Given the description of an element on the screen output the (x, y) to click on. 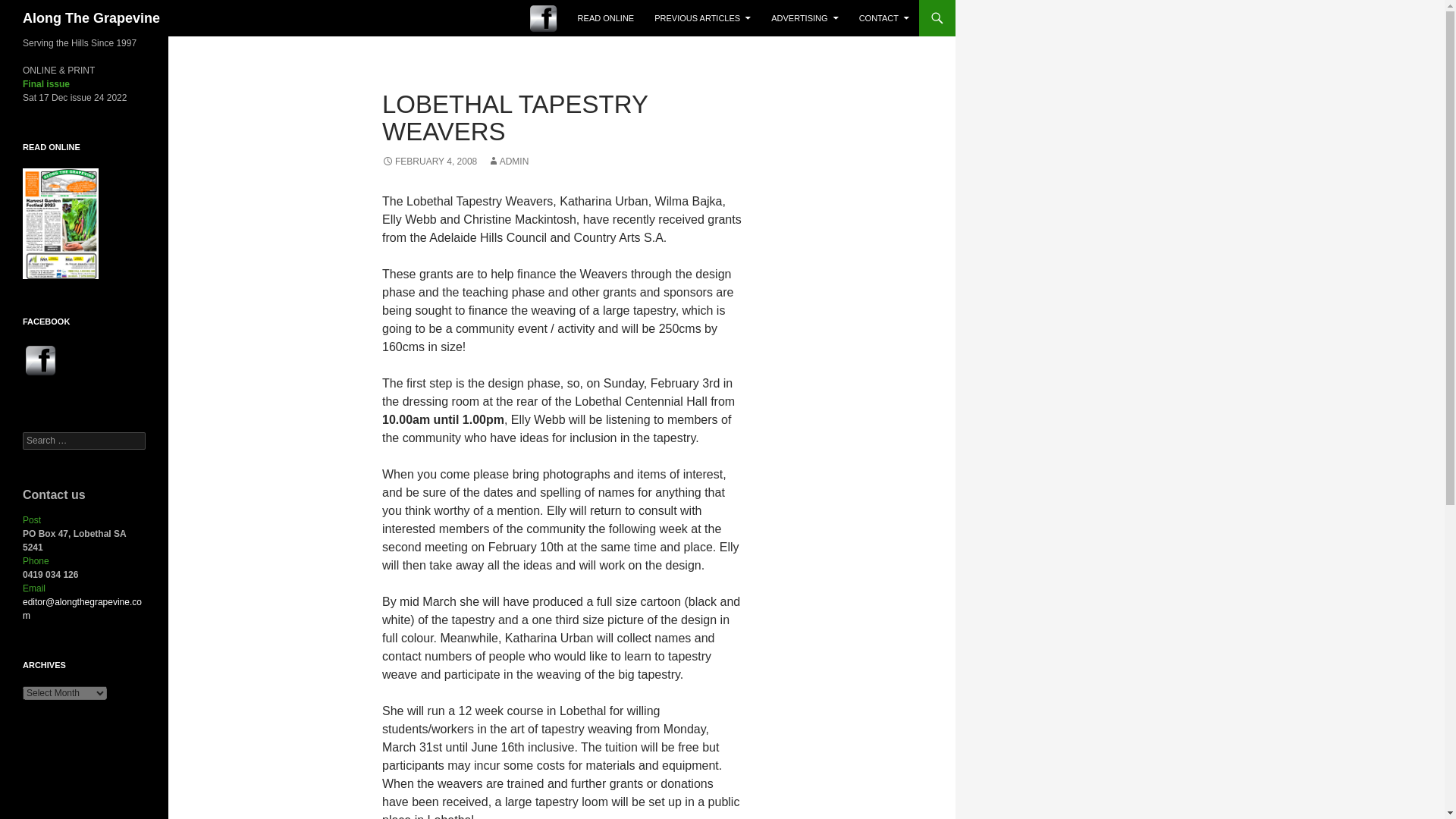
READ ONLINE (606, 18)
FEBRUARY 4, 2008 (429, 161)
ADMIN (508, 161)
ADVERTISING (804, 18)
PREVIOUS ARTICLES (702, 18)
Search (30, 8)
Facebook (41, 360)
CONTACT (884, 18)
Along The Grapevine (91, 18)
